Given the description of an element on the screen output the (x, y) to click on. 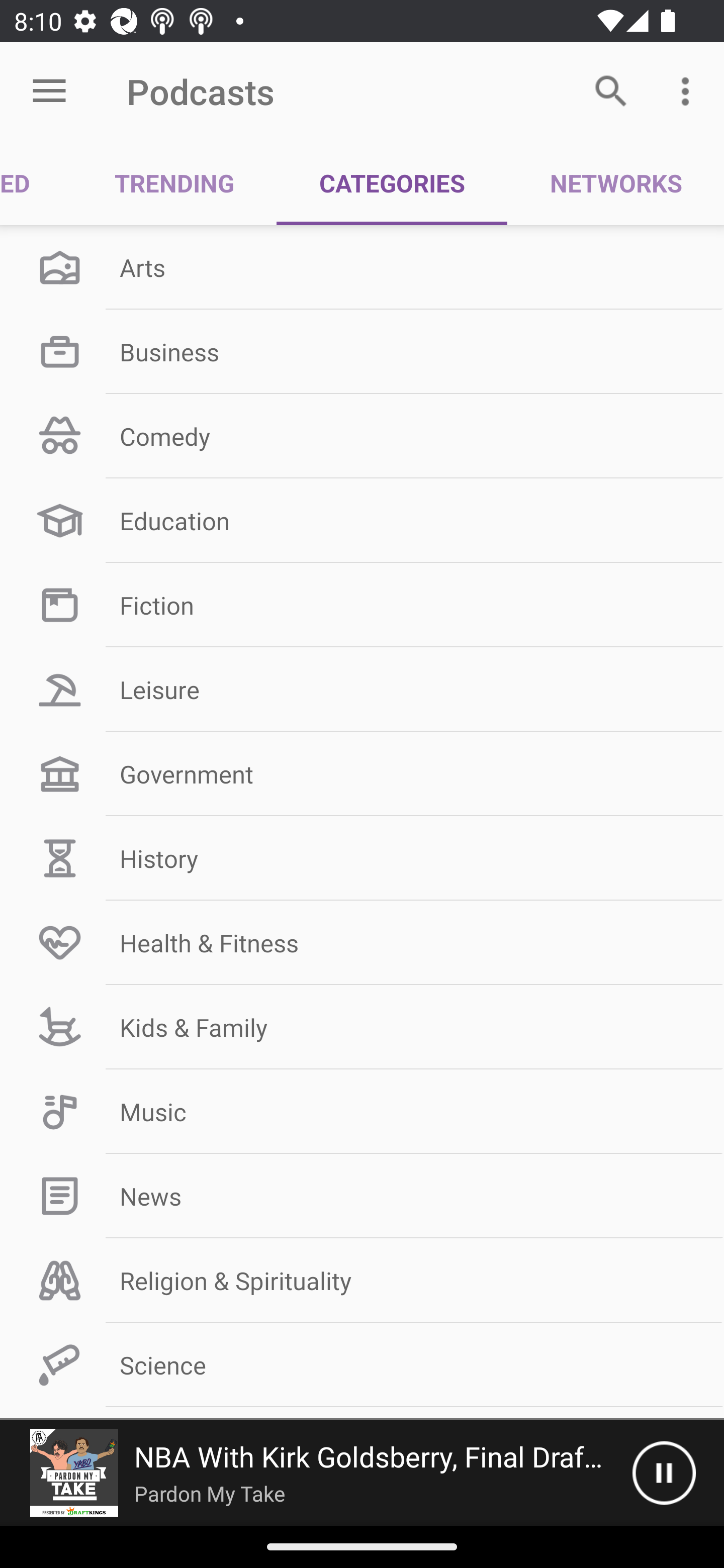
Open menu (49, 91)
Search (611, 90)
More options (688, 90)
TRENDING (174, 183)
CATEGORIES (391, 183)
NETWORKS (615, 183)
Arts (362, 266)
Business (362, 350)
Comedy (362, 435)
Education (362, 520)
Fiction (362, 604)
Leisure (362, 689)
Government (362, 774)
History (362, 858)
Health & Fitness (362, 942)
Kids & Family (362, 1026)
Music (362, 1111)
News (362, 1196)
Religion & Spirituality (362, 1280)
Science (362, 1364)
Pause (663, 1472)
